Given the description of an element on the screen output the (x, y) to click on. 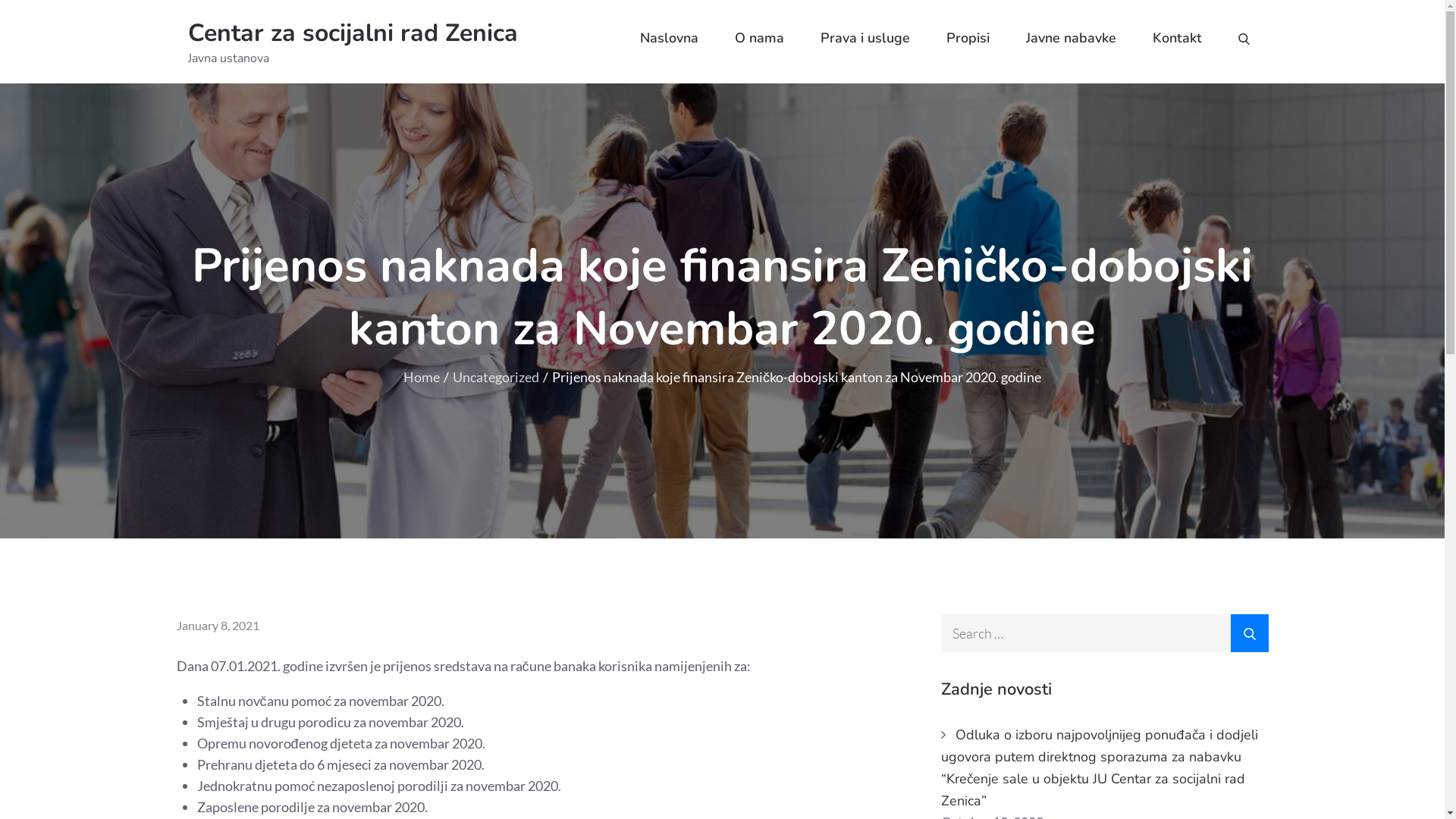
O nama Element type: text (758, 37)
Naslovna Element type: text (669, 37)
Uncategorized Element type: text (495, 376)
Prava i usluge Element type: text (864, 37)
Propisi Element type: text (967, 37)
Kontakt Element type: text (1177, 37)
January 8, 2021 Element type: text (216, 625)
Centar za socijalni rad Zenica Element type: text (352, 32)
Home Element type: text (421, 376)
Search Element type: text (1248, 633)
Javne nabavke Element type: text (1070, 37)
